Given the description of an element on the screen output the (x, y) to click on. 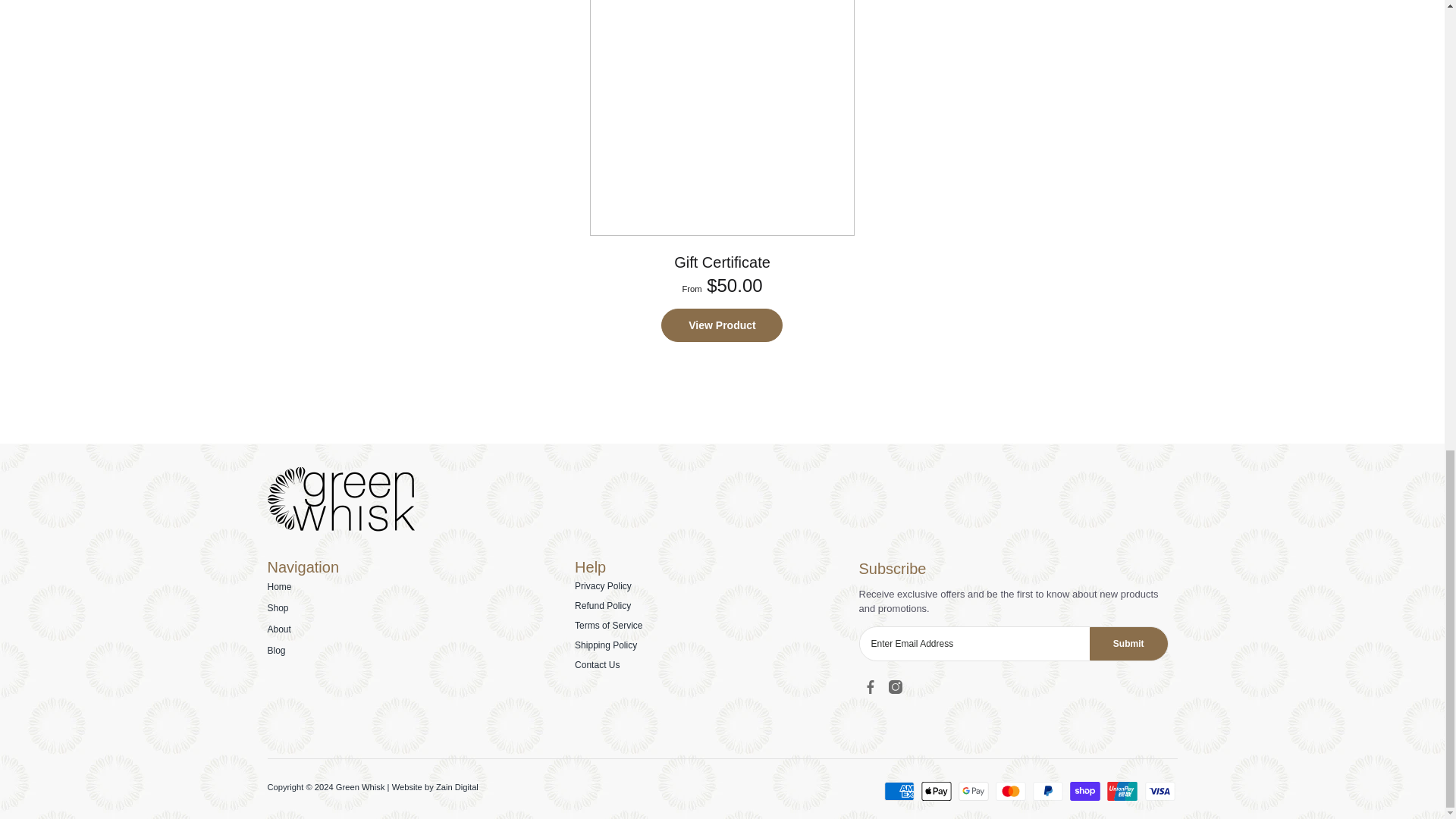
Facebook (869, 686)
Instagram (895, 686)
Google Pay (973, 791)
Green Whisk (339, 528)
Mastercard (1010, 791)
American Express (898, 791)
Apple Pay (936, 791)
Union Pay (1121, 791)
PayPal (1047, 791)
Visa (1159, 791)
Shop Pay (1085, 791)
